Given the description of an element on the screen output the (x, y) to click on. 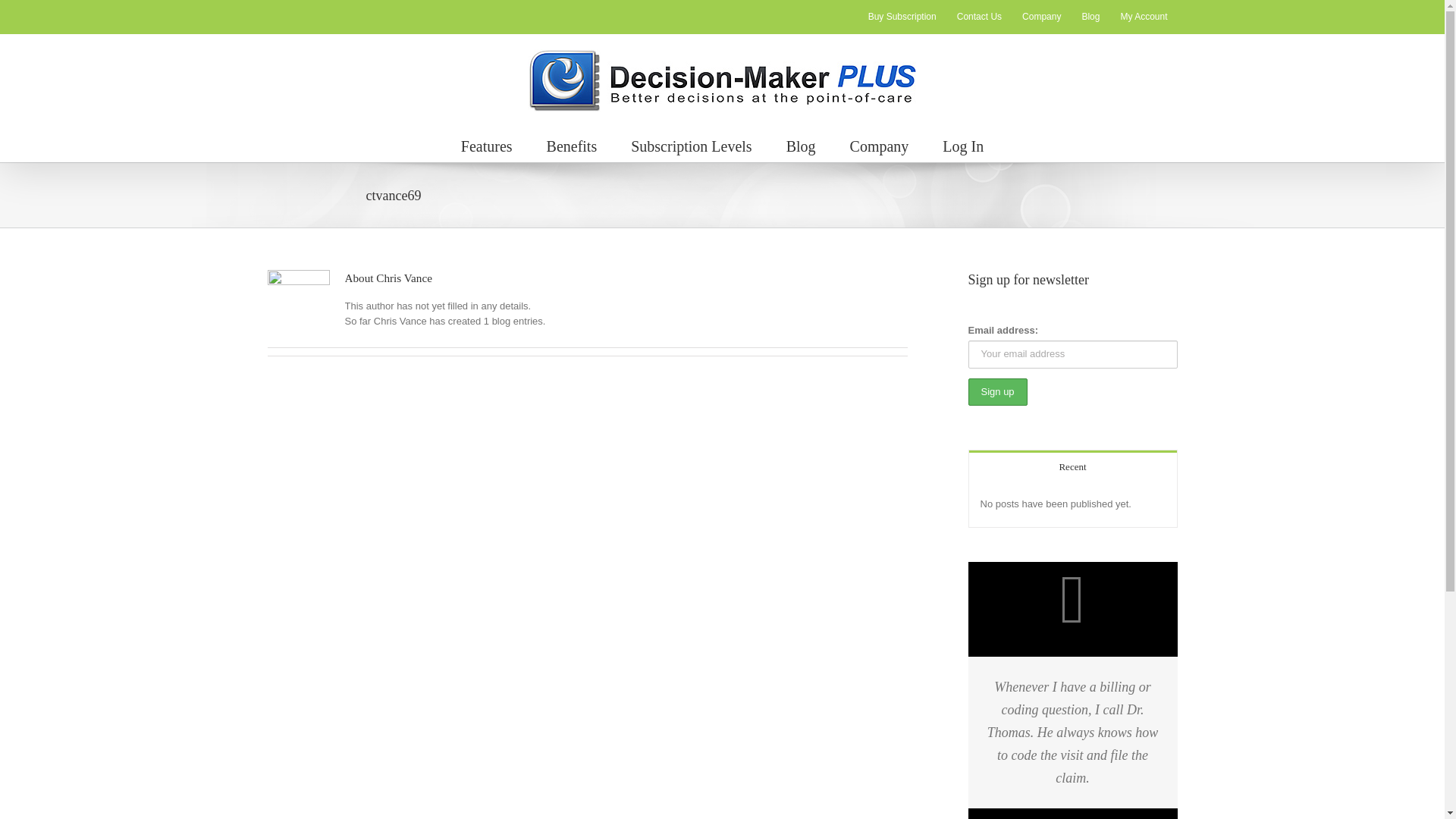
Benefits (571, 144)
Blog (1090, 16)
Sign up (997, 392)
Recent (1072, 465)
Buy Subscription (902, 16)
Log In (963, 144)
My Account (1142, 16)
Features (486, 144)
Company (1040, 16)
Subscription Levels (690, 144)
Sign up (997, 392)
Contact Us (979, 16)
Company (879, 144)
